Given the description of an element on the screen output the (x, y) to click on. 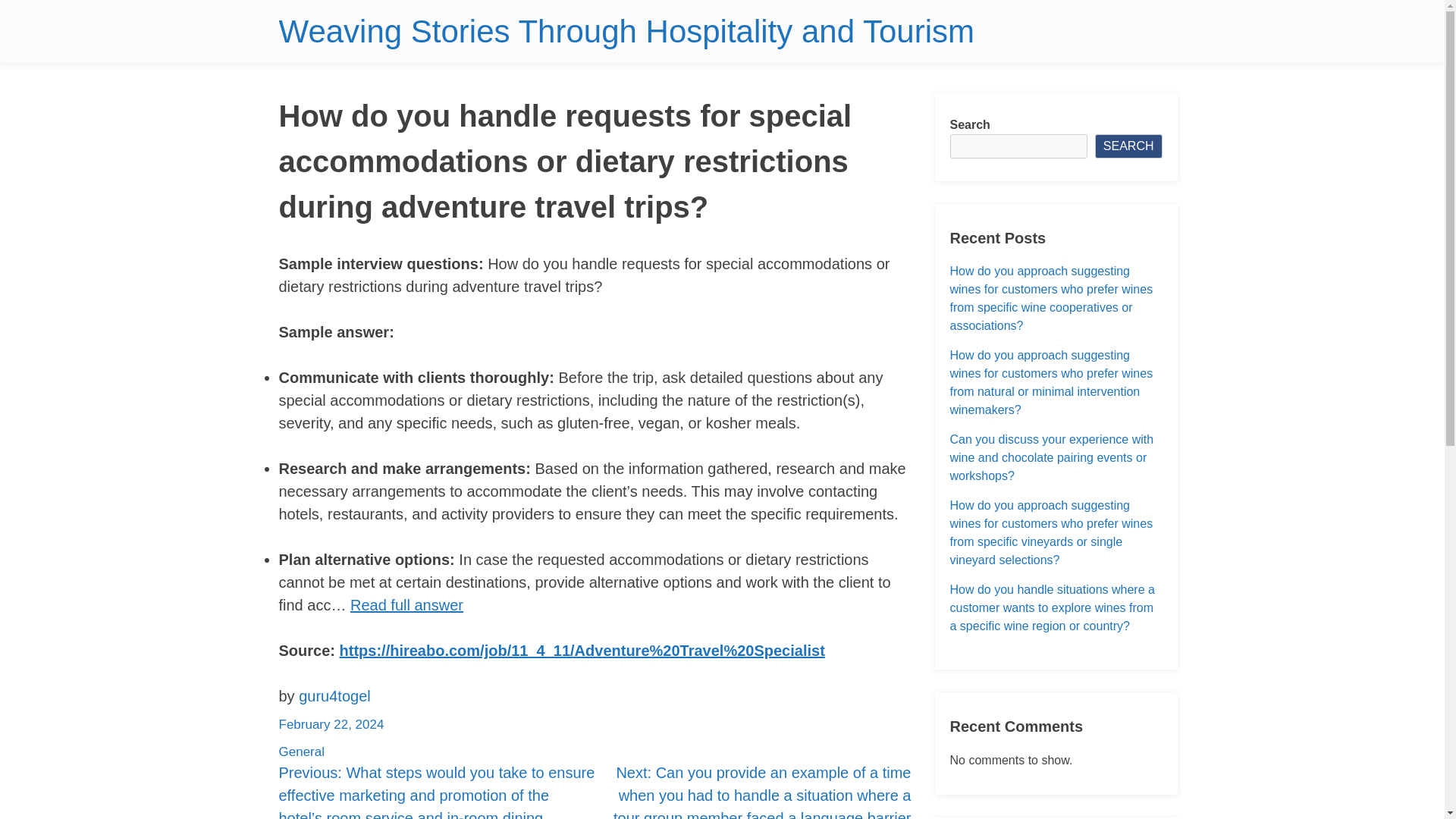
February 22, 2024 (331, 724)
guru4togel (334, 695)
Weaving Stories Through Hospitality and Tourism (626, 31)
Read full answer (406, 605)
SEARCH (1127, 146)
